Given the description of an element on the screen output the (x, y) to click on. 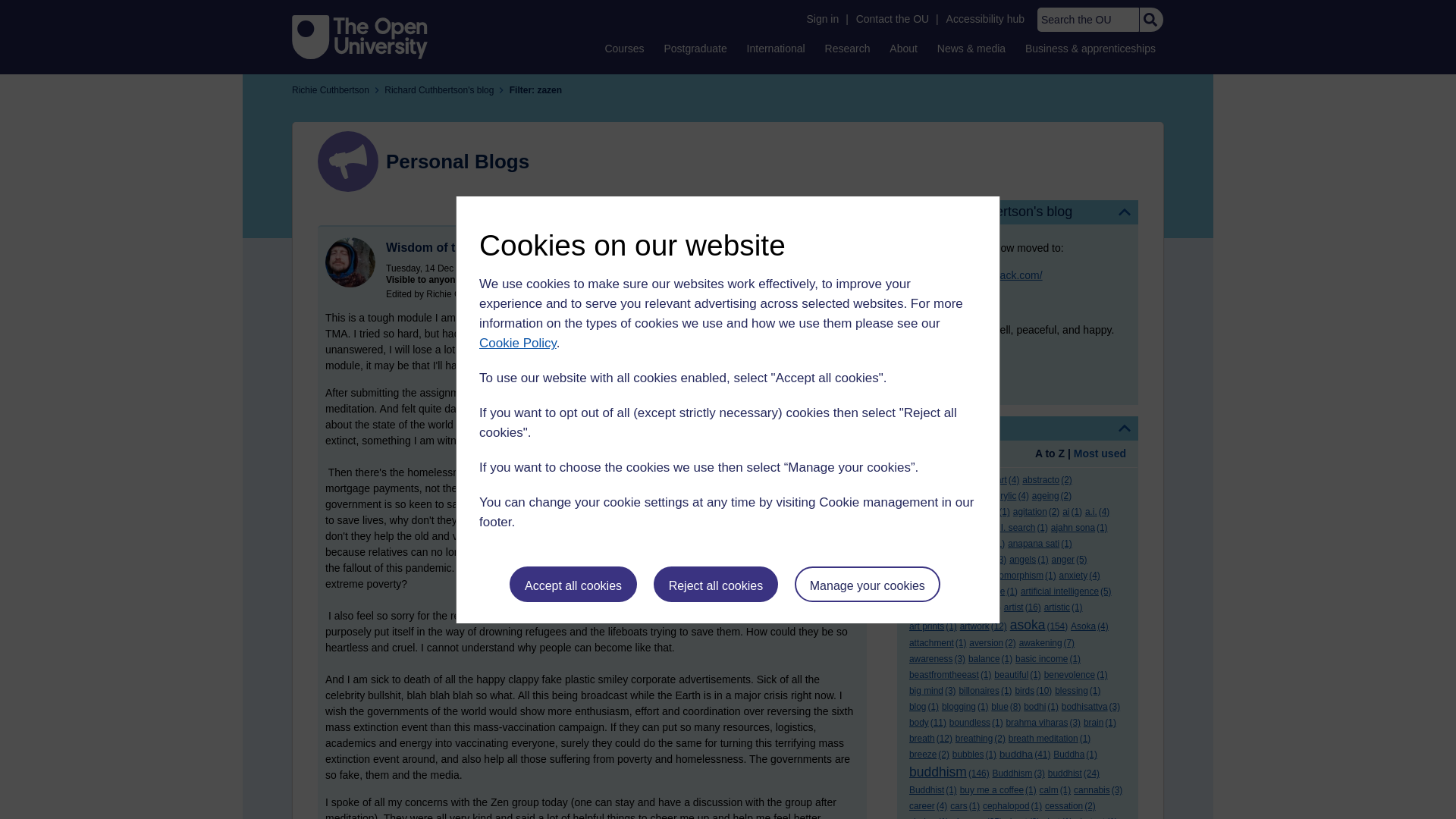
International (775, 48)
Reject all cookies (715, 583)
Accept all cookies (573, 583)
Search (1149, 19)
Cookie Policy (517, 342)
Research (847, 48)
Sign in (822, 19)
Search (1149, 19)
Accessibility hub (985, 19)
Help with Order: (951, 454)
Contact the OU (892, 19)
The Open University (360, 36)
Manage your cookies (867, 583)
Courses (623, 48)
